Given the description of an element on the screen output the (x, y) to click on. 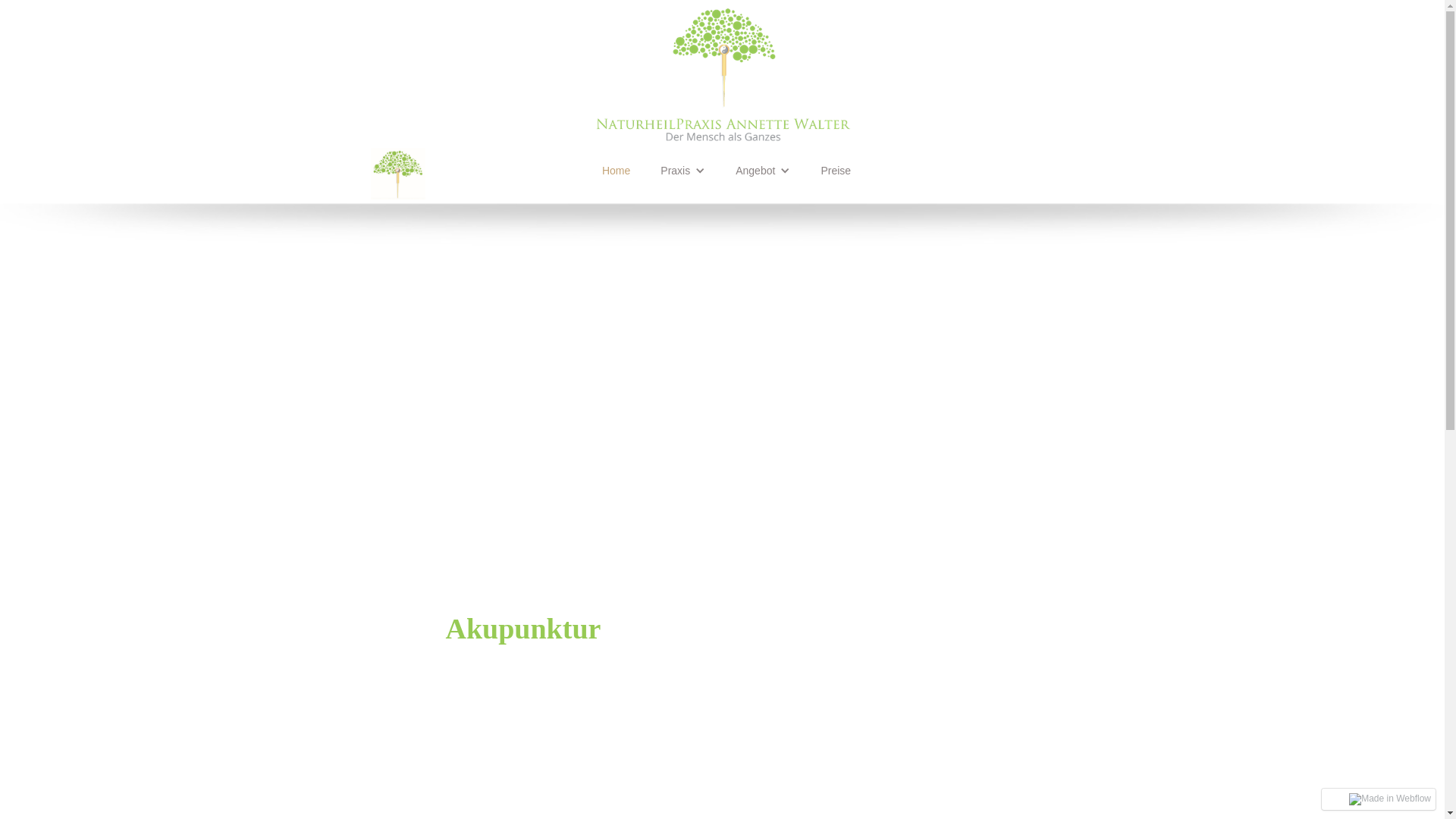
Home Element type: text (615, 170)
Preise Element type: text (835, 170)
